Given the description of an element on the screen output the (x, y) to click on. 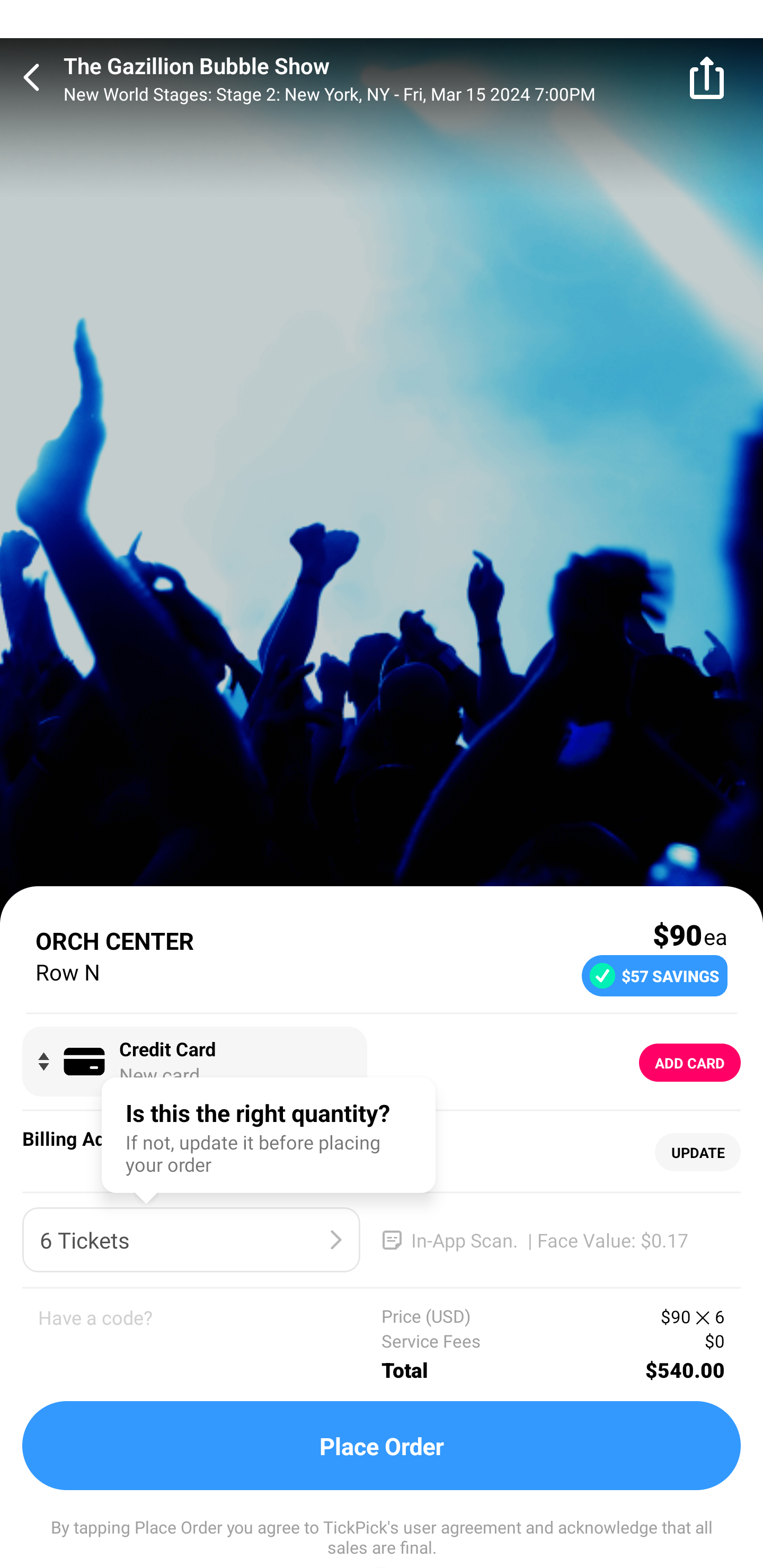
$57 SAVINGS (654, 974)
Credit Card, New card Credit Card New card (194, 1061)
ADD CARD (689, 1062)
UPDATE (697, 1152)
6 Tickets (191, 1239)
In-App Scan.  | Face Value: $0.17 (552, 1239)
Have a code? (209, 1344)
Place Order (381, 1445)
